Given the description of an element on the screen output the (x, y) to click on. 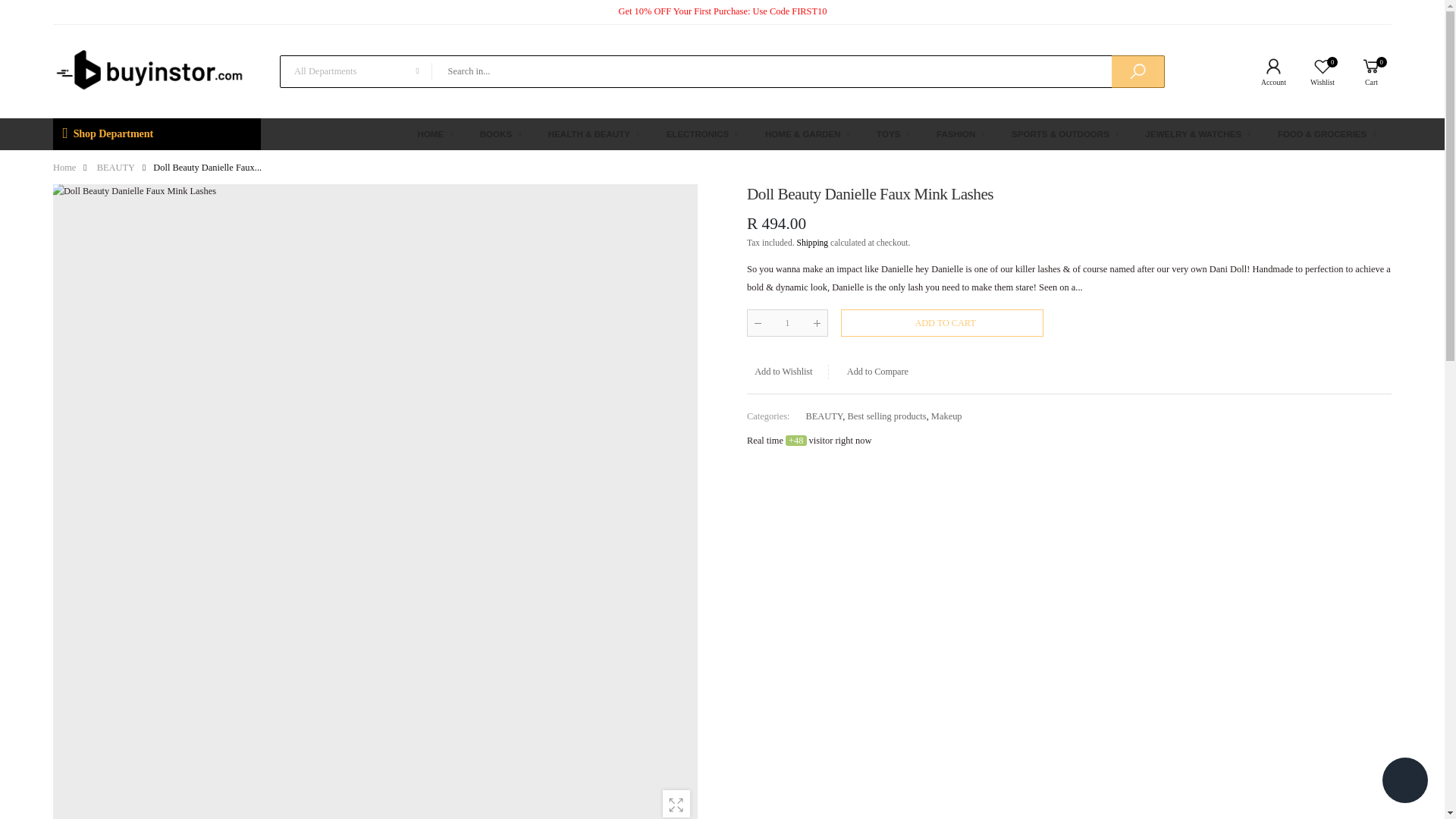
Shop Department (156, 133)
Shop Department (1366, 71)
Account (156, 133)
1 (1318, 71)
